Given the description of an element on the screen output the (x, y) to click on. 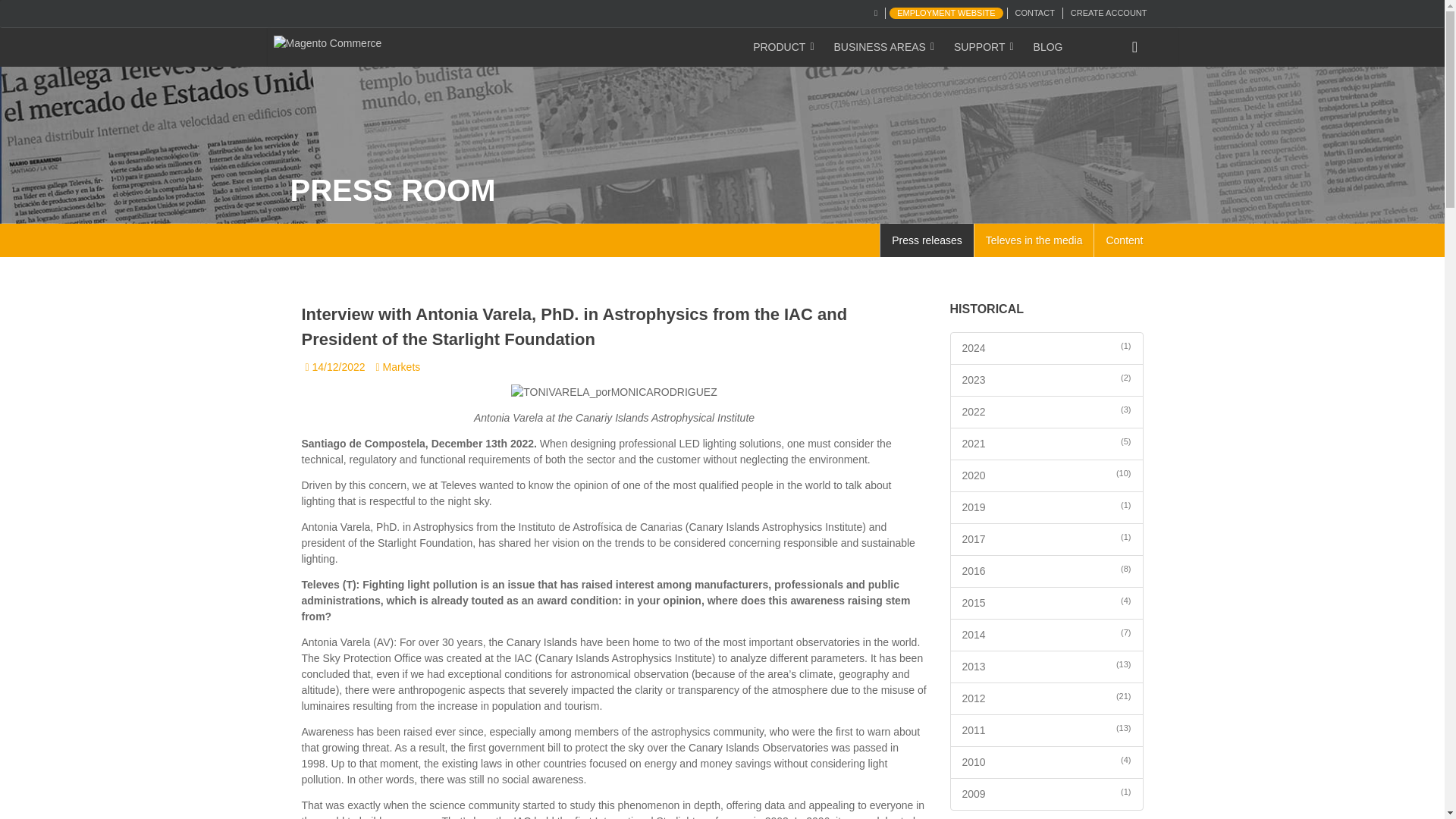
Create account (1108, 12)
CONTACT (1034, 12)
Choose your market (875, 12)
Televes in the media (1034, 240)
Magento Commerce (337, 43)
PRODUCT (783, 47)
BLOG (1048, 47)
SUPPORT (984, 47)
Press releases (926, 240)
EMPLOYMENT WEBSITE (946, 12)
